Given the description of an element on the screen output the (x, y) to click on. 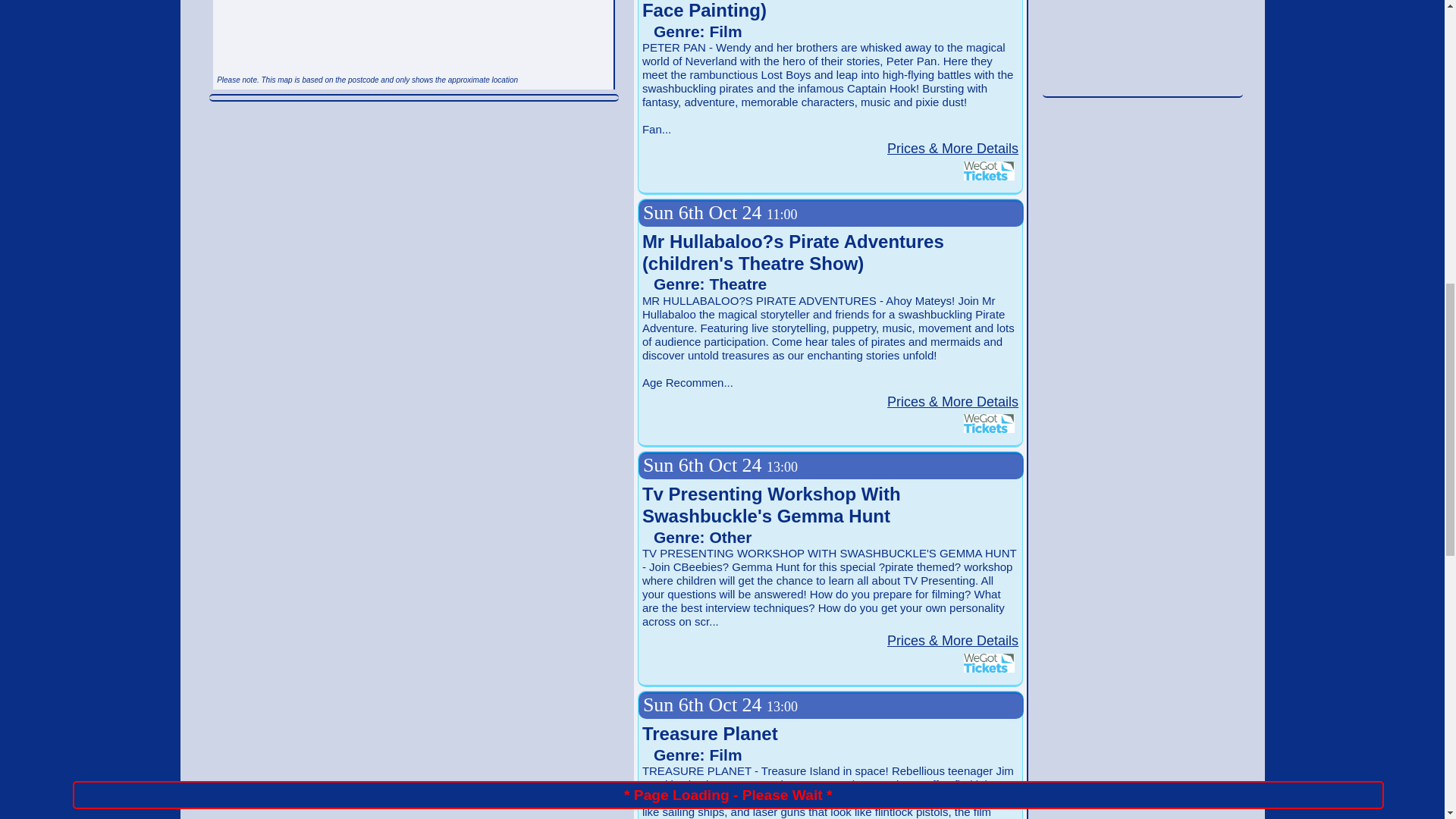
Click for more details about this gig (951, 640)
Click for more details about this gig (951, 401)
Click for more details about this gig (951, 148)
